Given the description of an element on the screen output the (x, y) to click on. 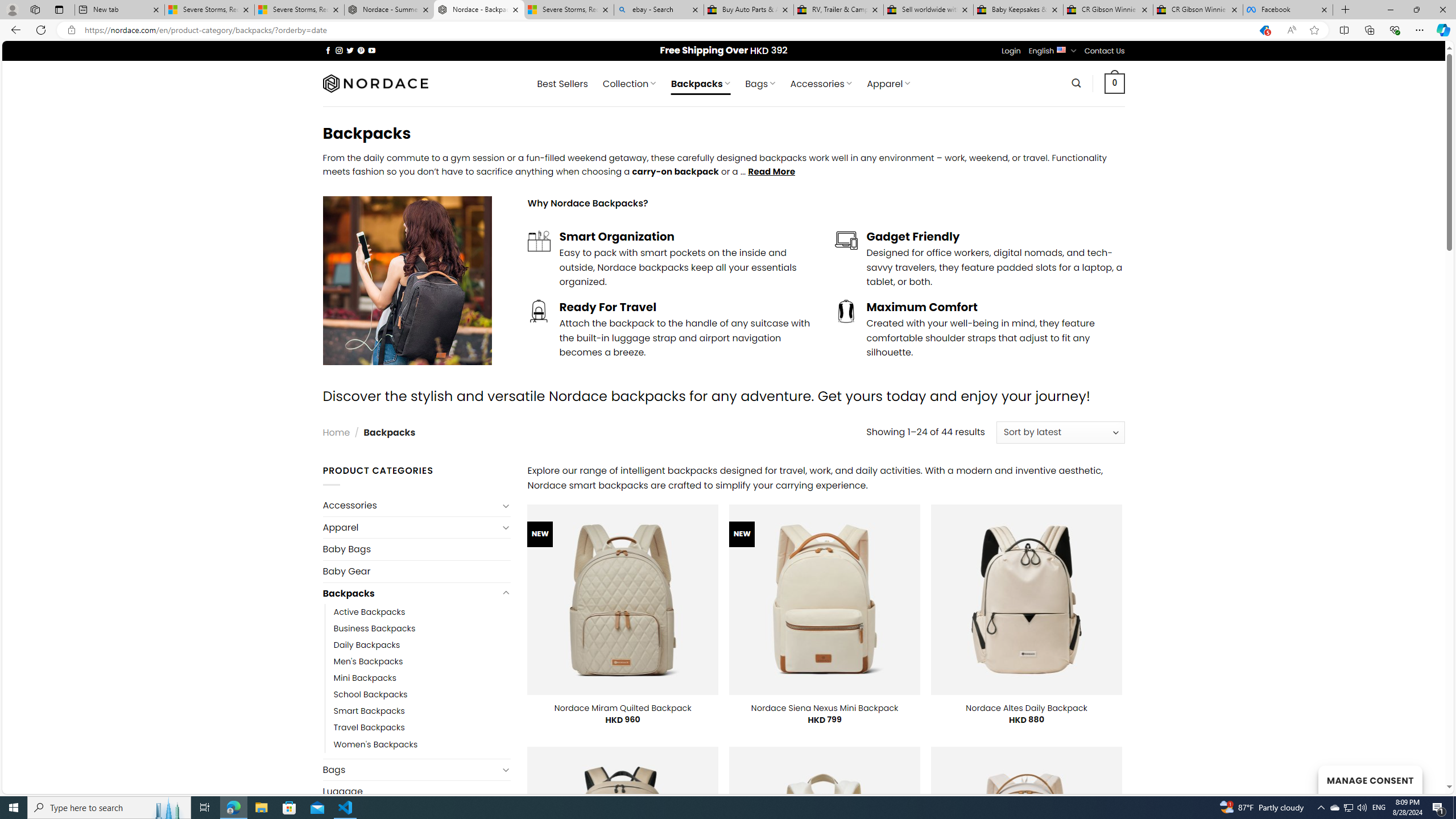
Mini Backpacks (364, 678)
School Backpacks (370, 694)
Baby Bags (416, 549)
Smart Backpacks (422, 710)
Business Backpacks (422, 628)
Baby Bags (416, 549)
Follow on Instagram (338, 49)
Daily Backpacks (366, 645)
 0  (1115, 83)
  Best Sellers (562, 83)
